Given the description of an element on the screen output the (x, y) to click on. 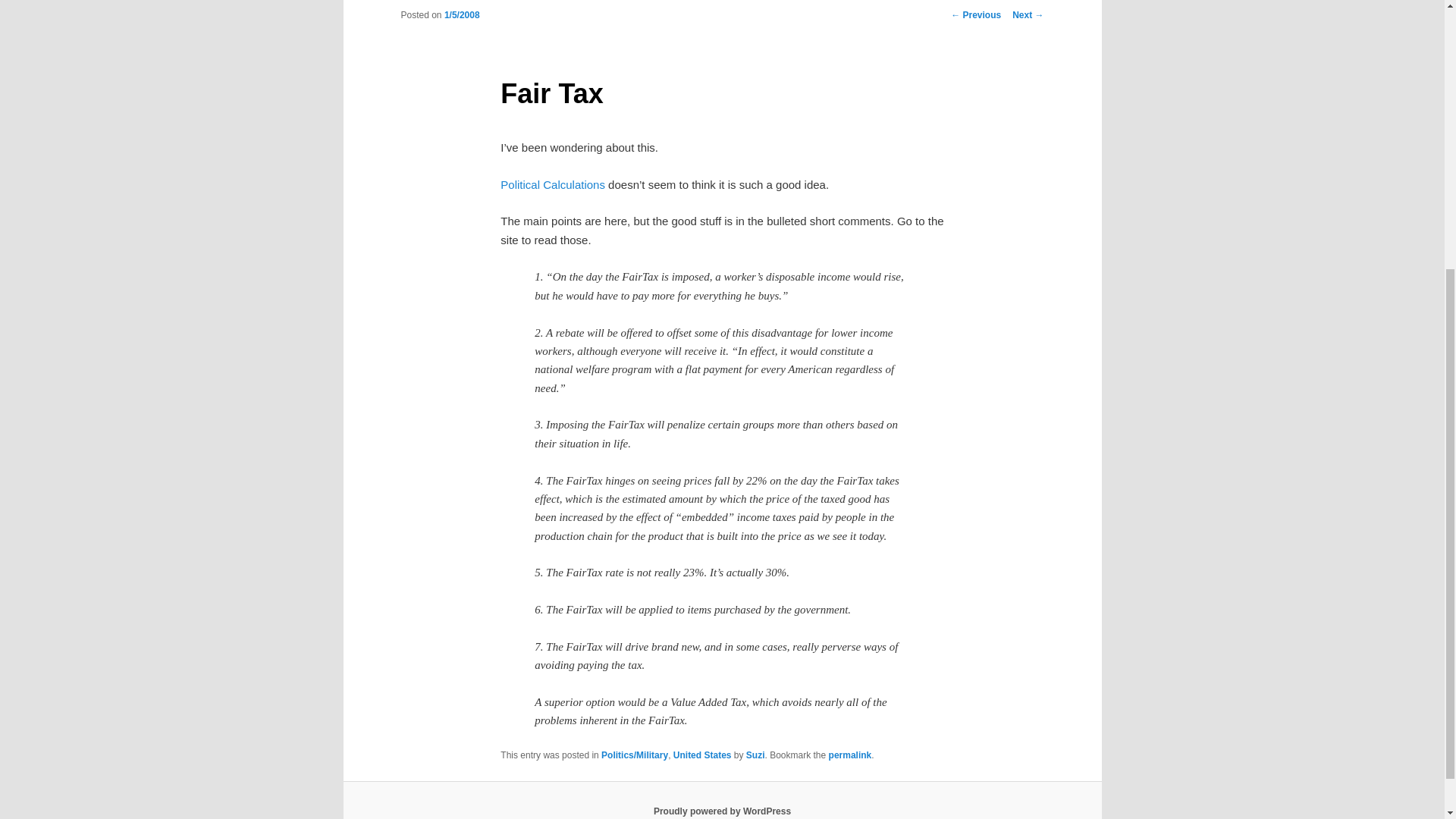
United States (702, 755)
Semantic Personal Publishing Platform (721, 810)
Political Calculations (552, 184)
9:23 am (462, 14)
Permalink to Fair Tax (850, 755)
Suzi (755, 755)
permalink (850, 755)
Proudly powered by WordPress (721, 810)
